Given the description of an element on the screen output the (x, y) to click on. 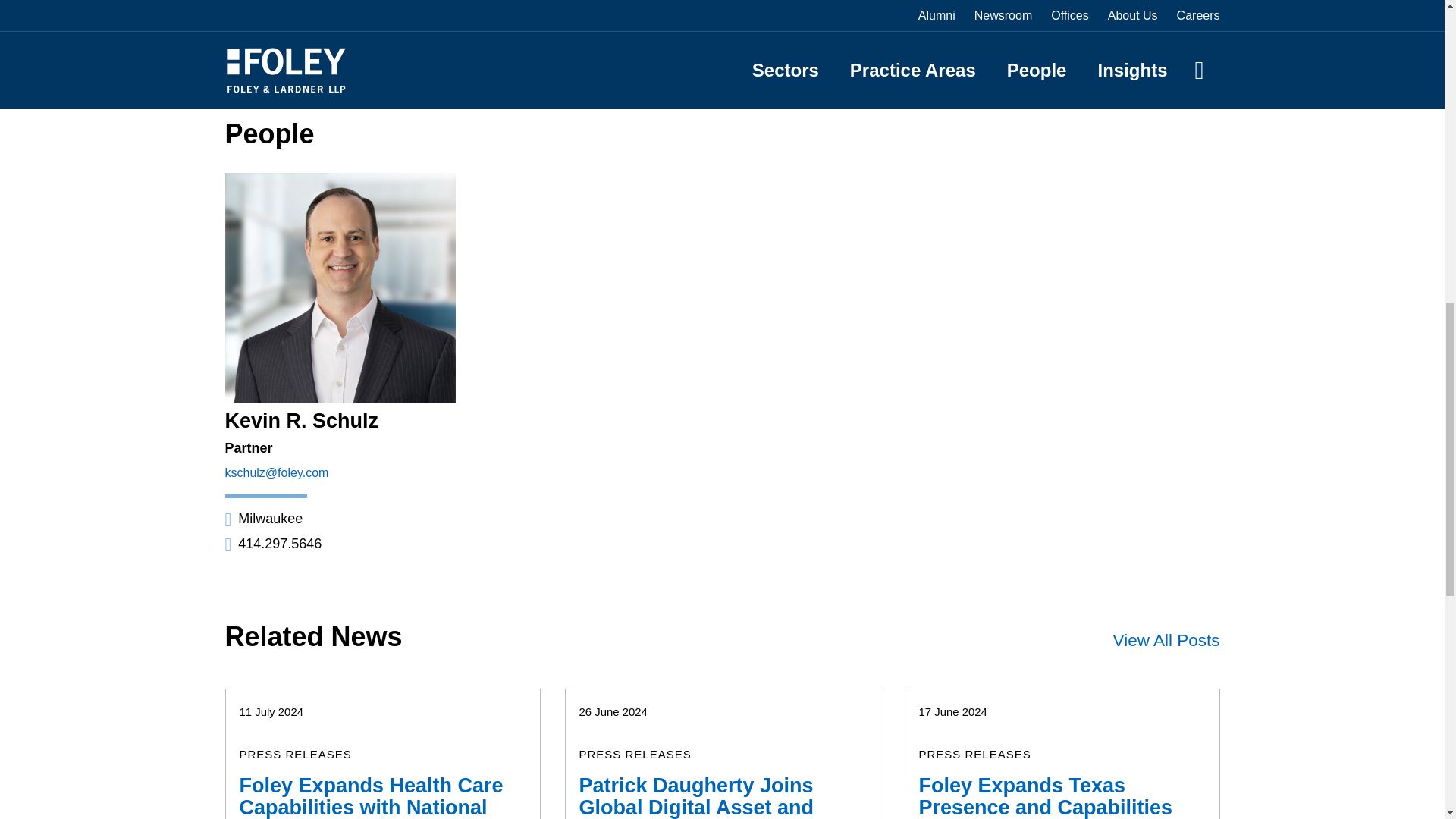
Kevin R. Schulz (301, 420)
